Given the description of an element on the screen output the (x, y) to click on. 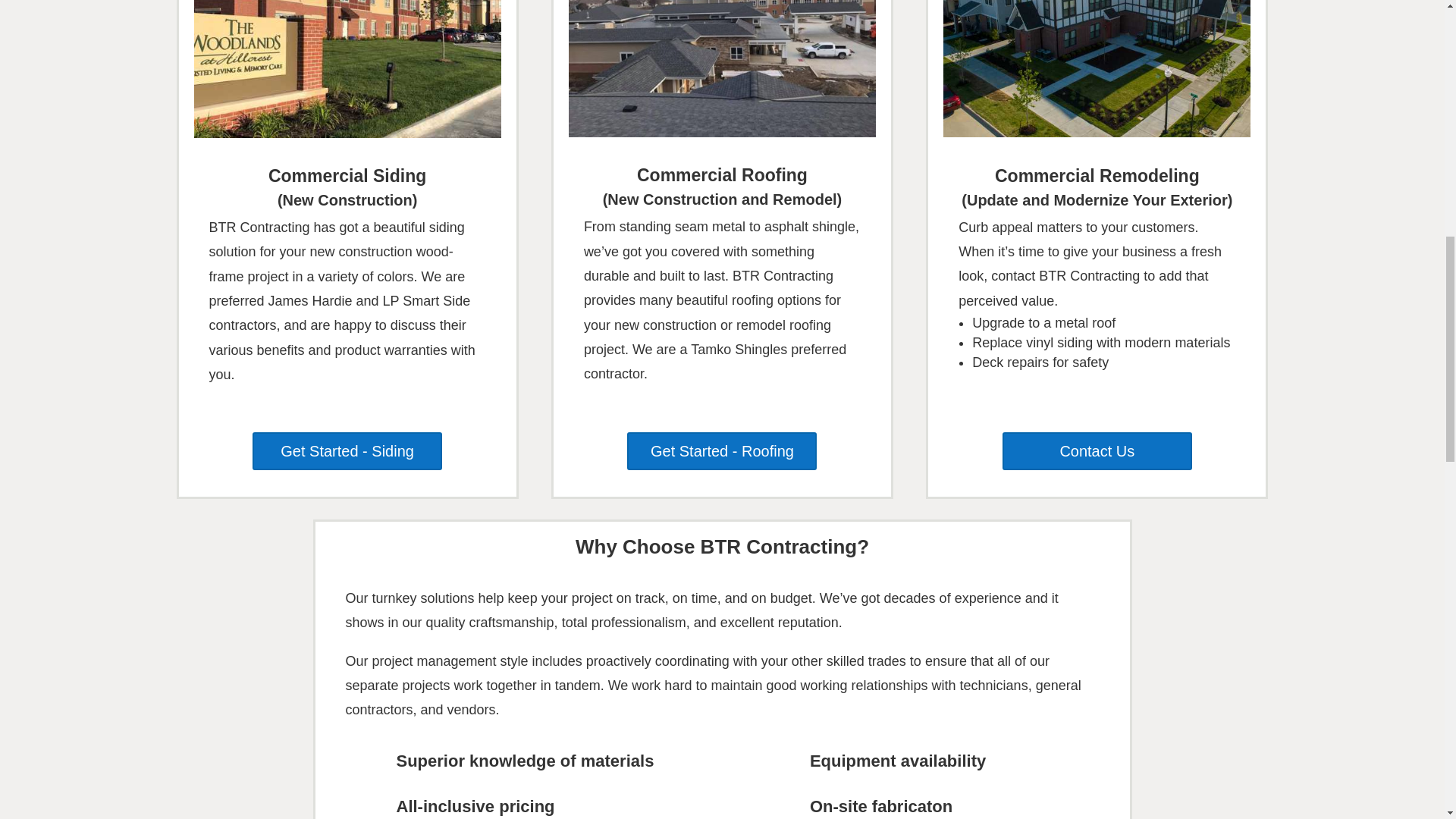
Contact Us (1097, 451)
Get Started - Roofing (721, 451)
Get Started - Siding (346, 451)
Bunglows on the Lake 053020202 (1096, 68)
